Given the description of an element on the screen output the (x, y) to click on. 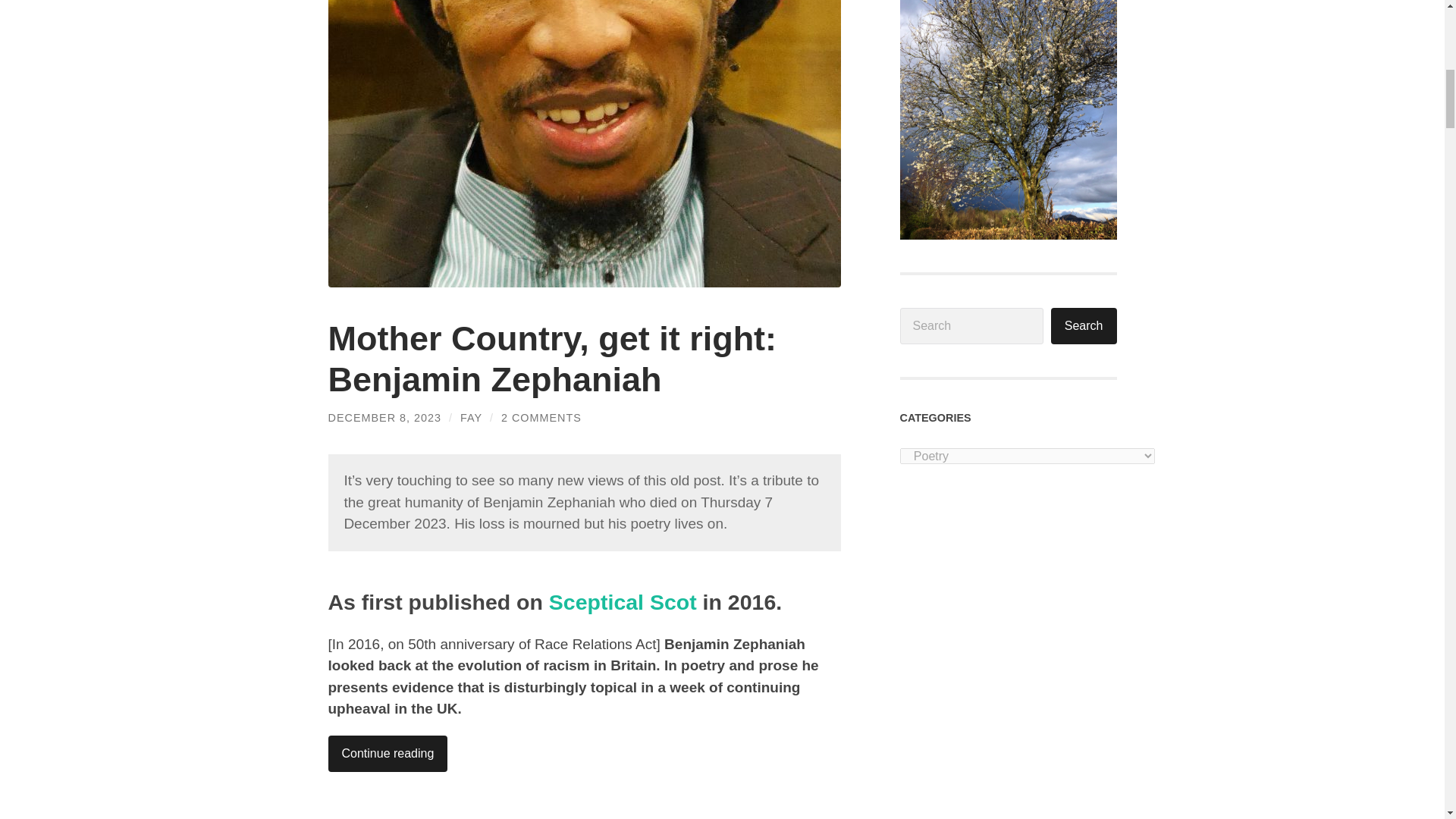
Continue reading (386, 753)
DECEMBER 8, 2023 (384, 417)
FAY (470, 417)
Mother Country, get it right: Benjamin Zephaniah (551, 358)
Posts by fay (470, 417)
2 COMMENTS (540, 417)
Sceptical Scot (625, 601)
